Given the description of an element on the screen output the (x, y) to click on. 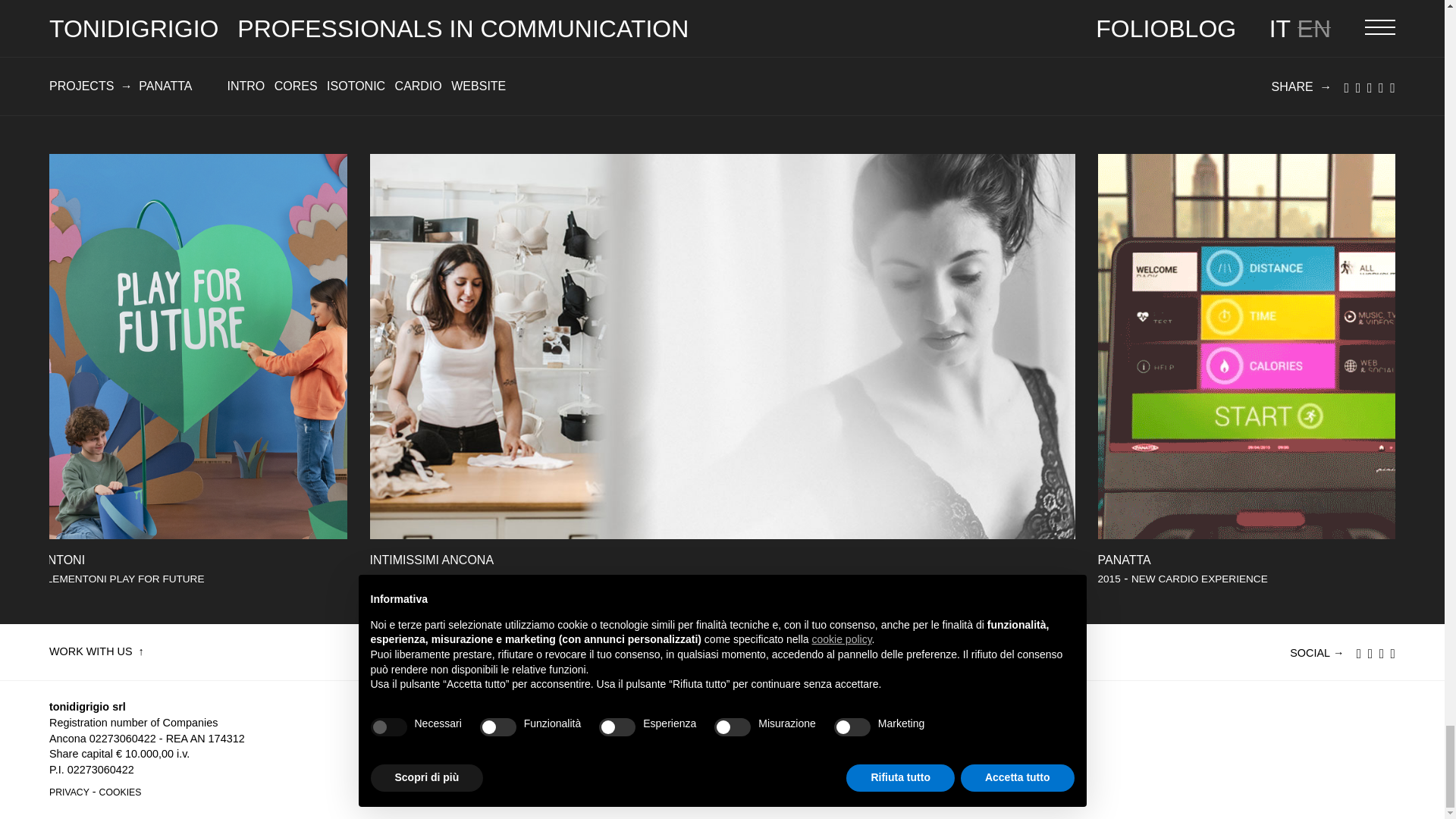
2 (721, 31)
3 (1349, 108)
1 (1367, 108)
4 (1331, 108)
